Given the description of an element on the screen output the (x, y) to click on. 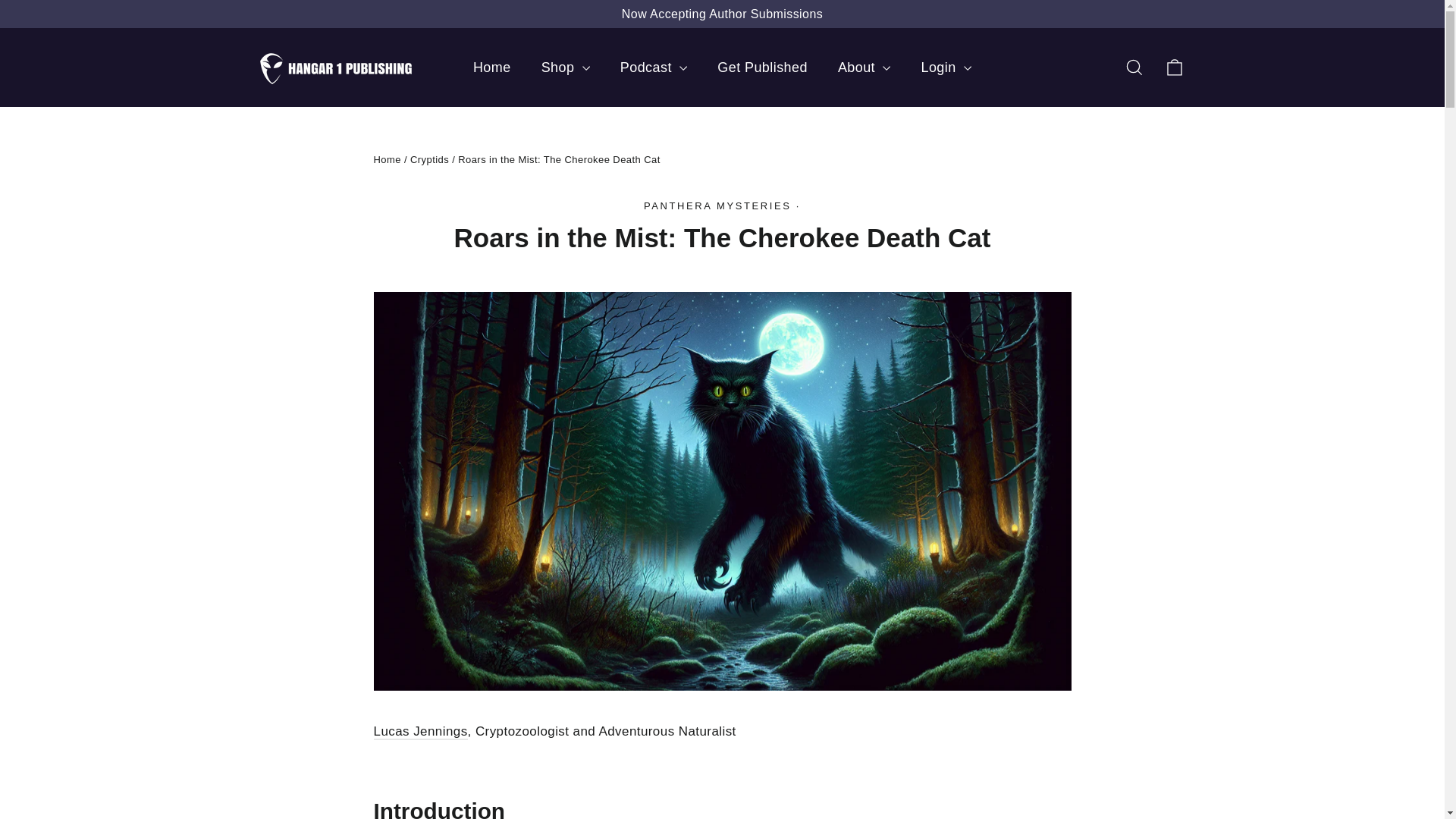
icon-bag-minimal (1174, 66)
icon-search (1134, 66)
Back to the frontpage (386, 159)
